Given the description of an element on the screen output the (x, y) to click on. 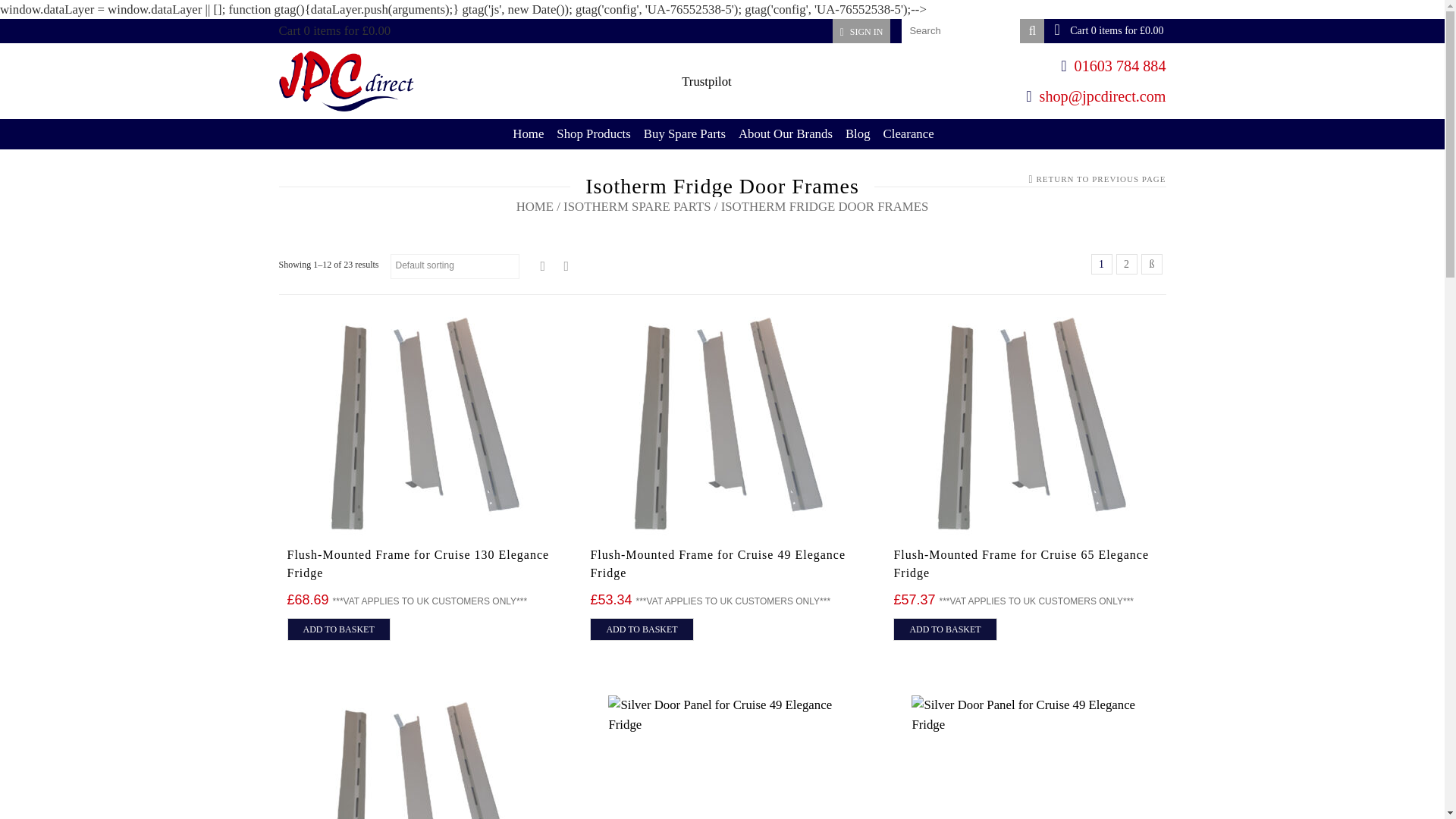
Go (1031, 30)
